Given the description of an element on the screen output the (x, y) to click on. 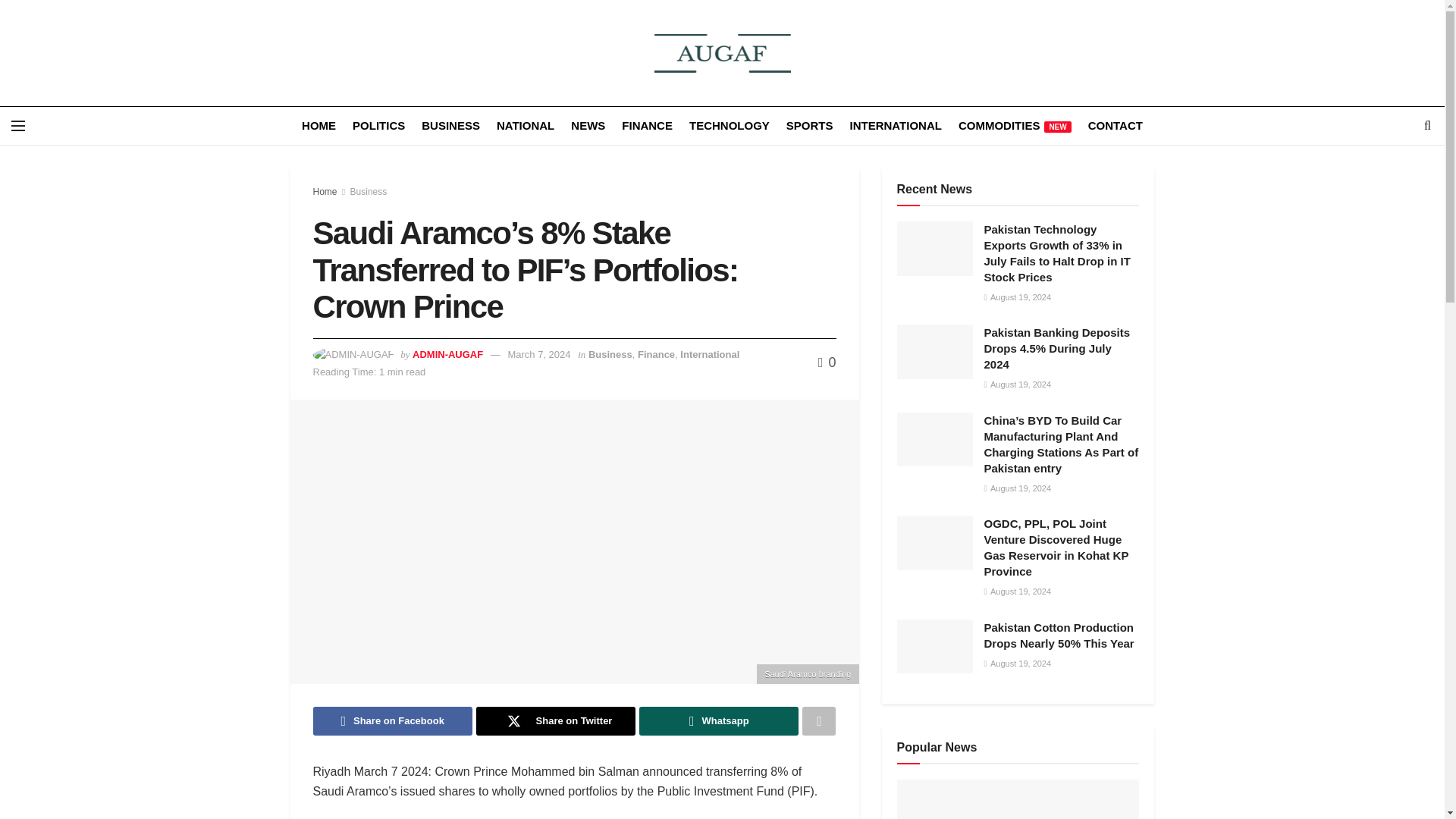
FINANCE (646, 125)
Finance (656, 354)
INTERNATIONAL (894, 125)
NEWS (587, 125)
POLITICS (378, 125)
BUSINESS (451, 125)
Business (609, 354)
ADMIN-AUGAF (447, 354)
Business (368, 191)
Home (324, 191)
